Given the description of an element on the screen output the (x, y) to click on. 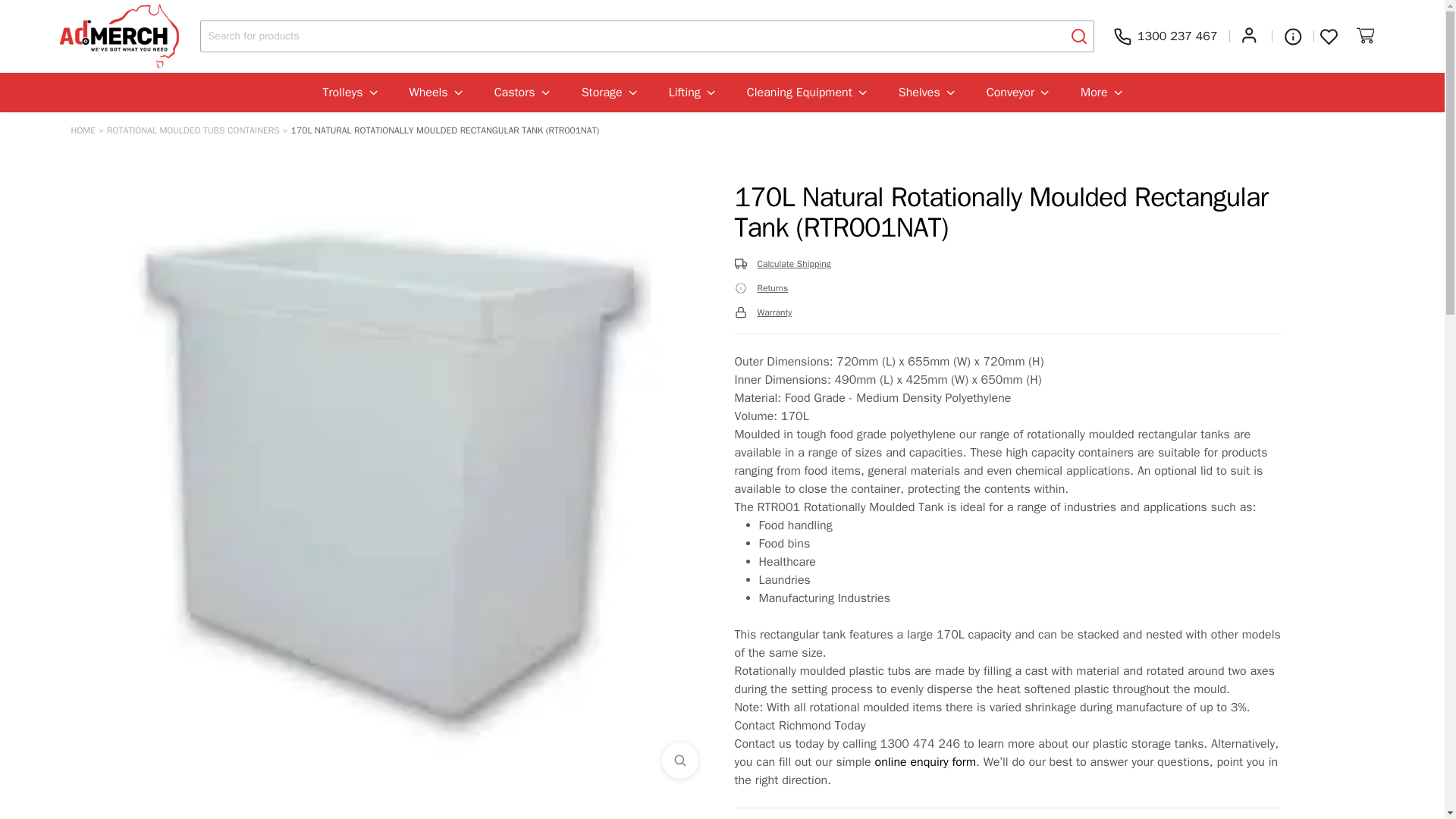
HOME (83, 130)
ROTATIONAL MOULDED TUBS CONTAINERS (192, 130)
1300 237 467 (1166, 36)
online enquiry form (925, 761)
